Given the description of an element on the screen output the (x, y) to click on. 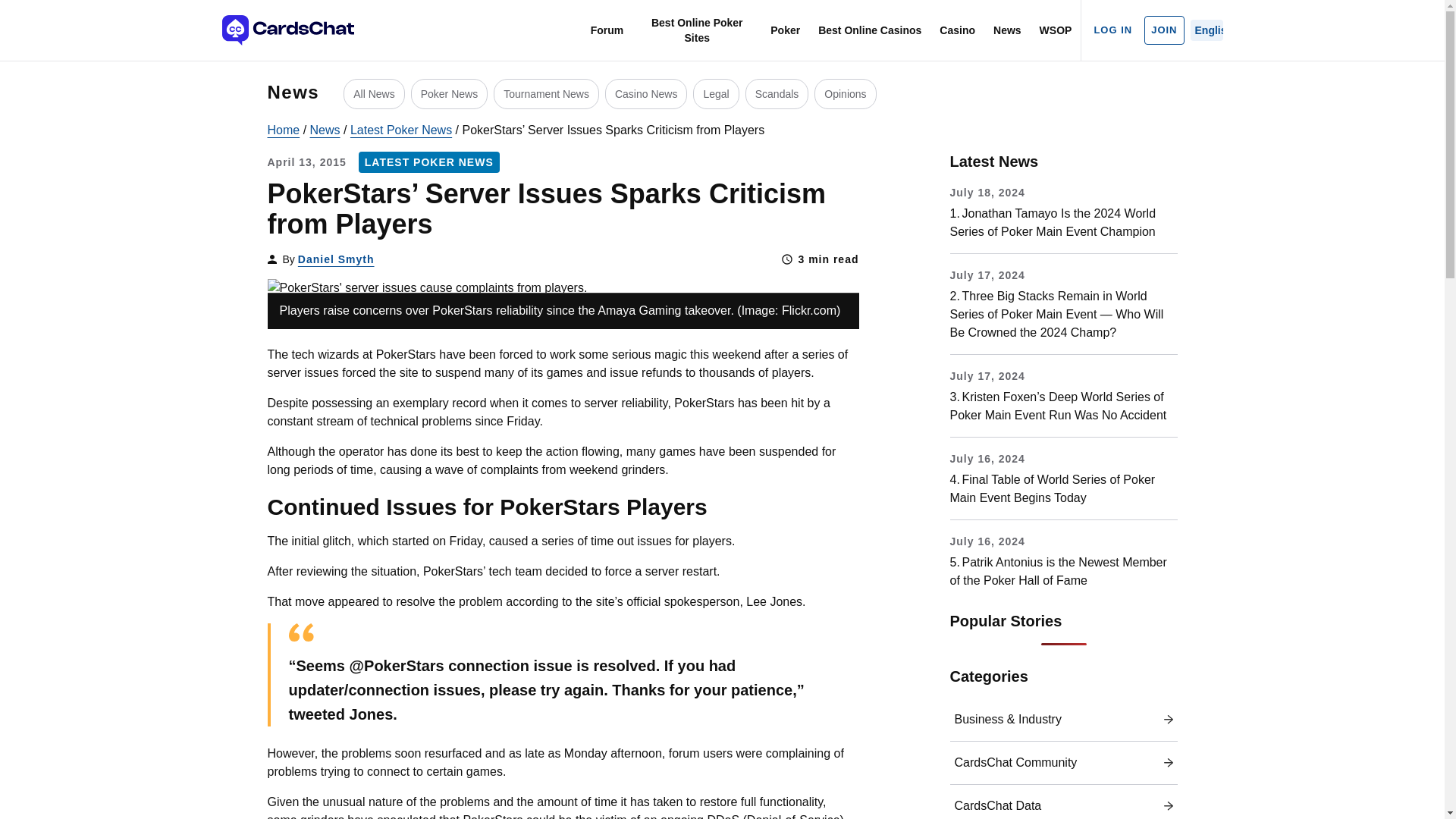
Forum (606, 30)
Best Online Poker Sites (696, 30)
Poker (785, 30)
